Given the description of an element on the screen output the (x, y) to click on. 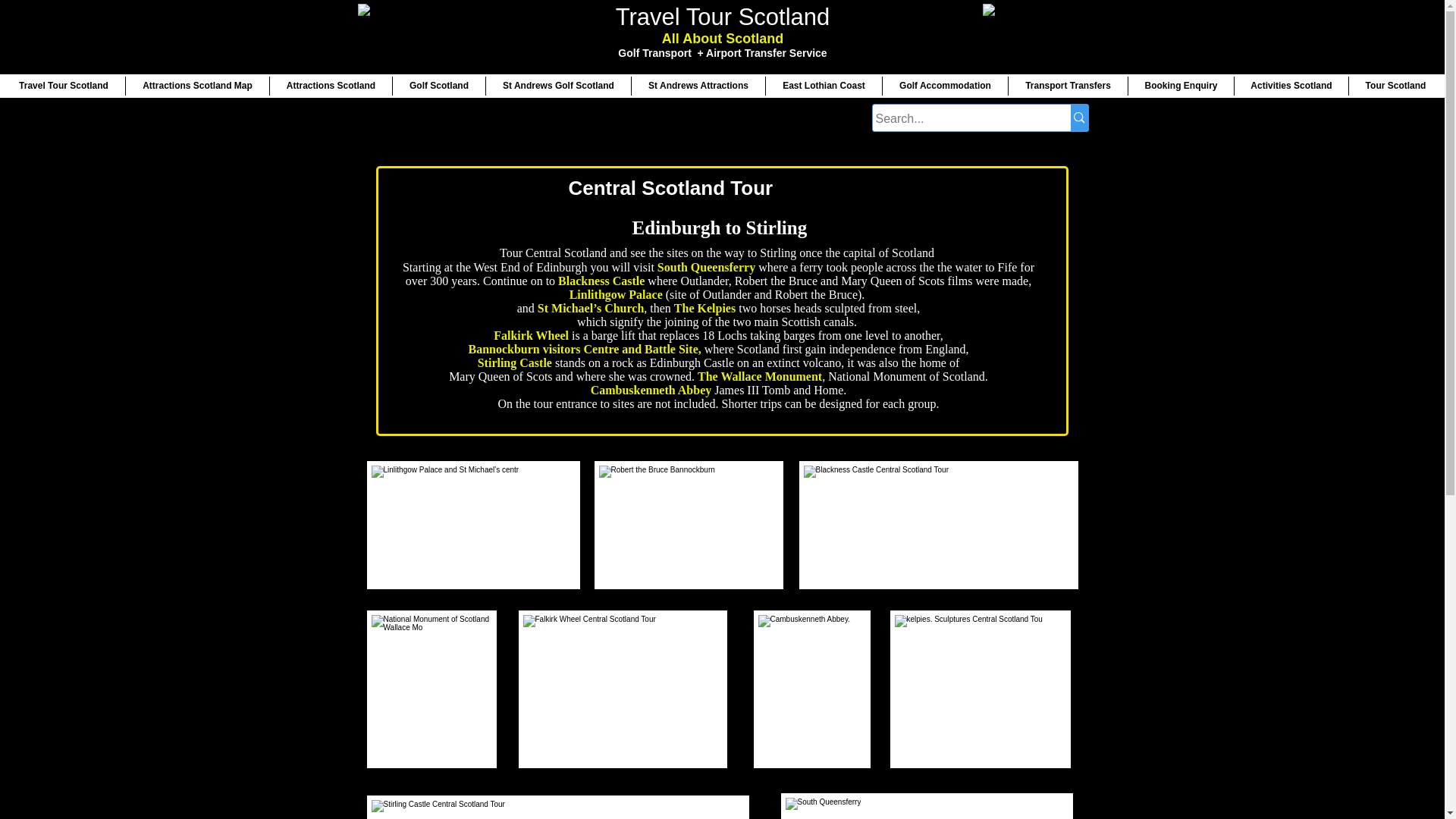
Robert the Bruce Bannockburn (687, 524)
Attractions Scotland (330, 85)
Stirling Castle Central Scotland Tour (557, 806)
Blackness Castle Central Scotland Tour (938, 524)
Linlithgow Palace and St Michael's Central Scotland Tour (472, 524)
St Andrews Golf Scotland (557, 85)
South Queensferry (926, 806)
St Andrews Attractions (697, 85)
Travel Tour Scotland Golf (411, 34)
Travel Tour Scotland Golf (1035, 34)
Attractions Scotland Map (197, 85)
Golf Scotland (437, 85)
Travel Tour Scotland (63, 85)
Falkirk Wheel Central Scotland Tour (622, 689)
kelpies. Sculptures Central Scotland Tour (978, 689)
